Given the description of an element on the screen output the (x, y) to click on. 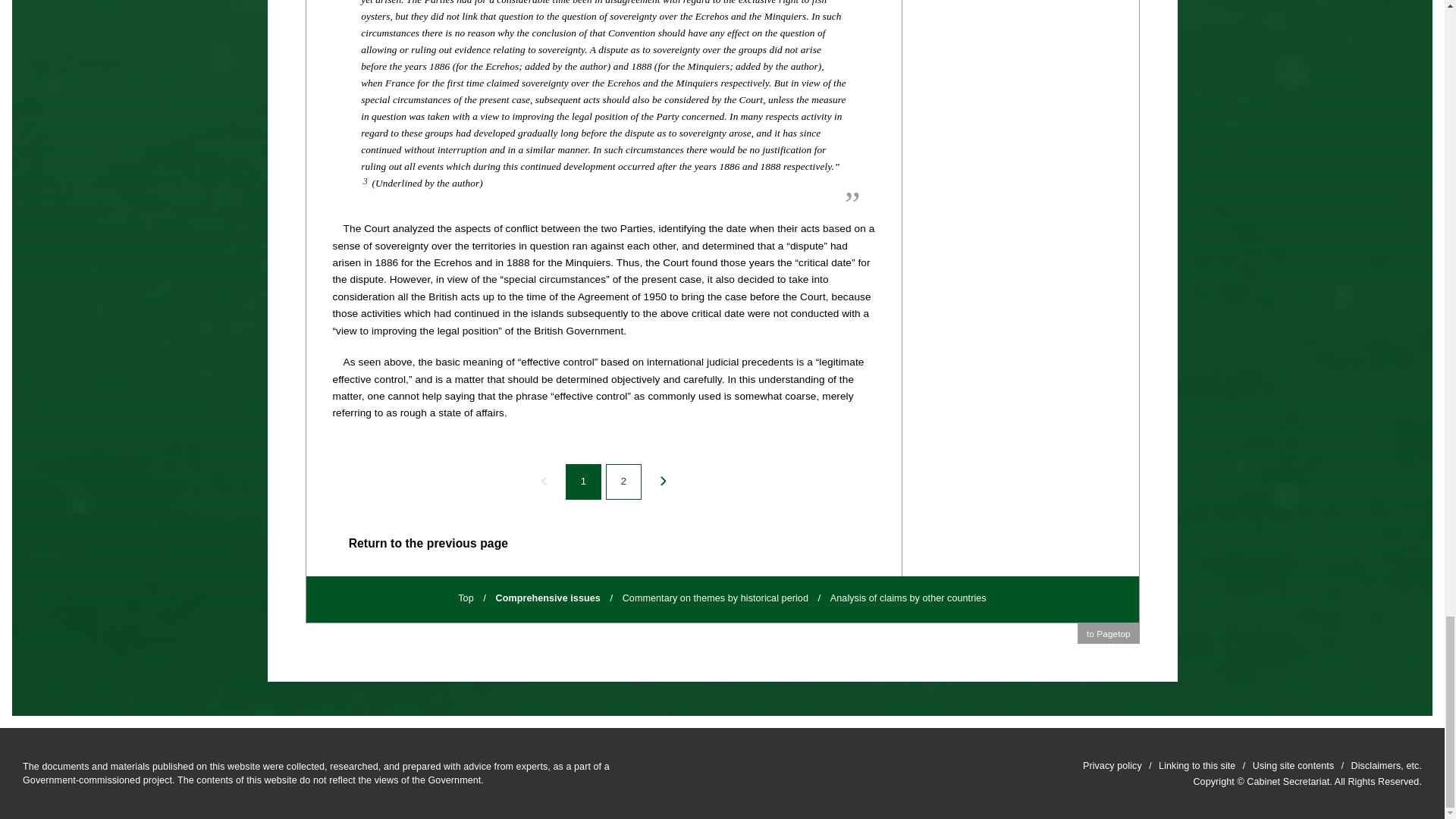
Comprehensive issues (547, 599)
Disclaimers, etc. (1386, 766)
Linking to this site (1196, 766)
Privacy policy (1112, 766)
Top (465, 599)
2 (623, 481)
Using site contents (1293, 766)
1 (583, 481)
Commentary on themes by historical period (715, 599)
Analysis of claims by other countries (908, 599)
